Given the description of an element on the screen output the (x, y) to click on. 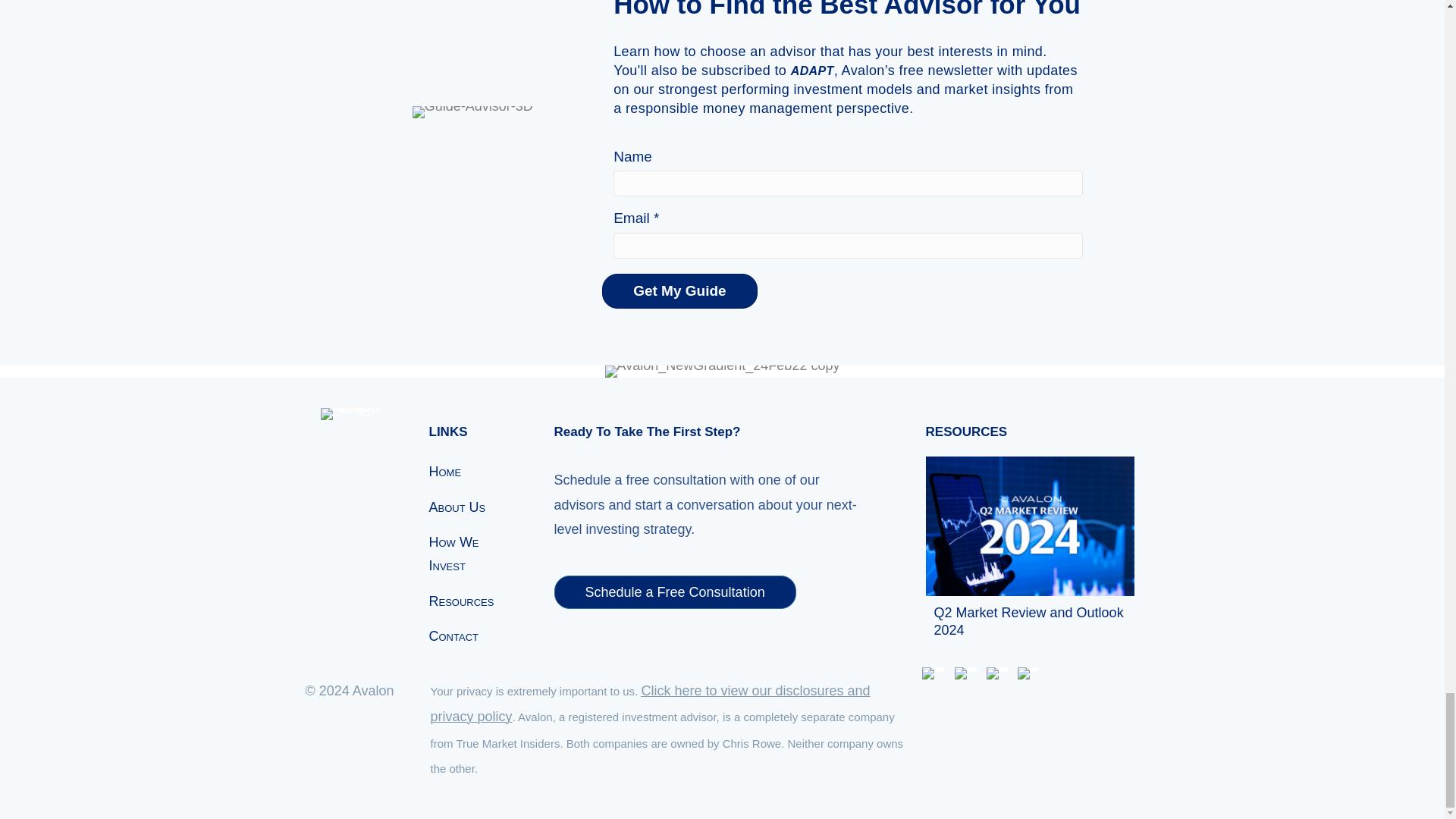
Get My Guide (679, 291)
Q2 Market Review and Outlook 2024 (1029, 621)
Social Network-Facebook (932, 673)
Schedule a Free Consultation (673, 592)
Social Network-Twitter (965, 673)
Get My Guide (679, 291)
How We Invest (473, 551)
Q2 Market Review and Outlook 2024 (1029, 621)
Q2 Market Review and Outlook 2024 (1030, 525)
Social Network-Linkedin (998, 673)
Home (473, 469)
Resources (473, 599)
About Us (473, 505)
Contact (473, 634)
Guide-Advisor-3D (472, 111)
